Given the description of an element on the screen output the (x, y) to click on. 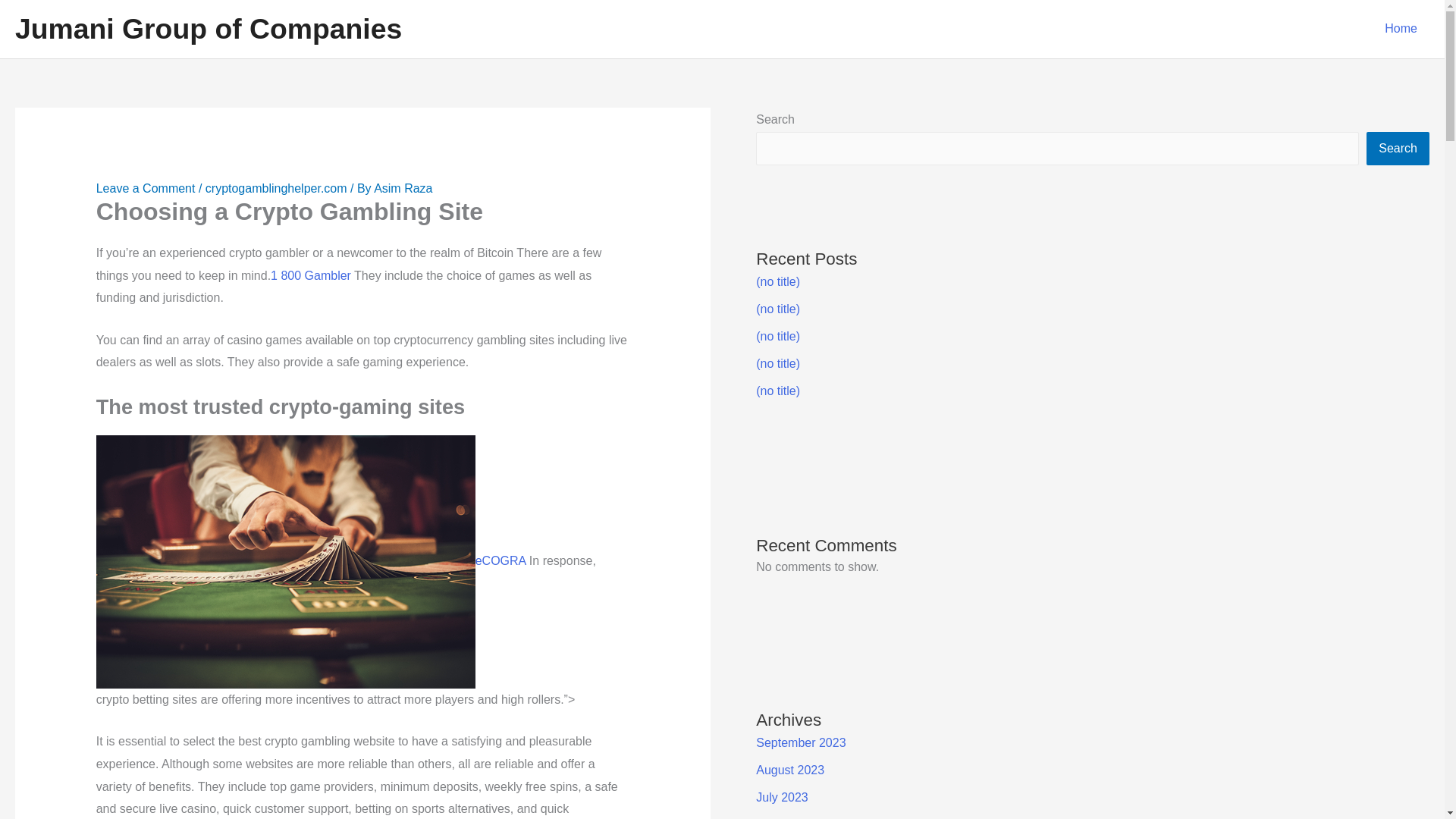
Leave a Comment (145, 187)
Asim Raza (403, 187)
Jumani Group of Companies (207, 29)
May 2023 (782, 818)
cryptogamblinghelper.com (276, 187)
eCOGRA (310, 560)
View all posts by Asim Raza (403, 187)
1 800 Gambler (310, 274)
July 2023 (781, 797)
August 2023 (789, 769)
